Given the description of an element on the screen output the (x, y) to click on. 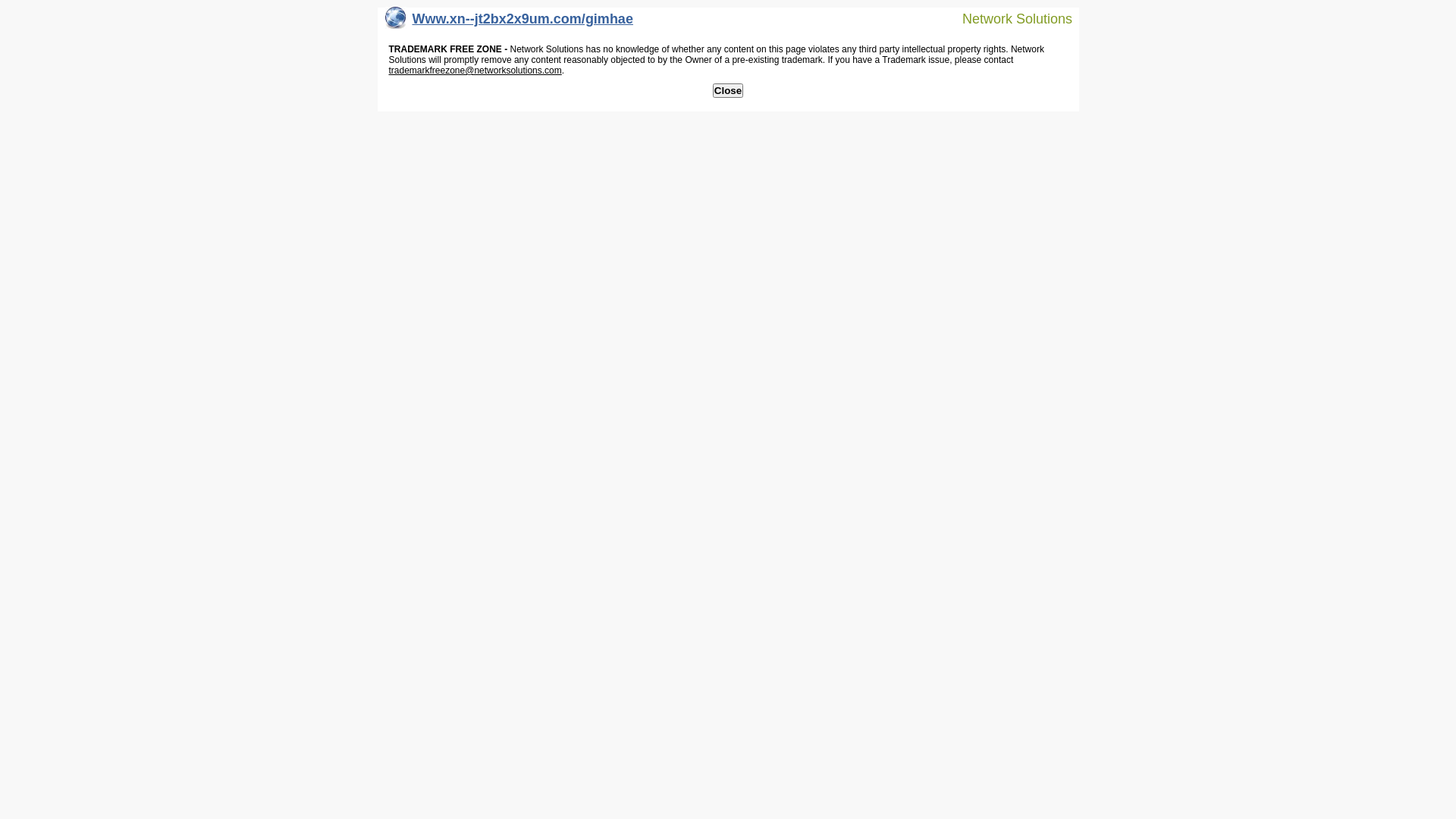
Close Element type: text (727, 90)
Network Solutions Element type: text (1007, 17)
trademarkfreezone@networksolutions.com Element type: text (474, 70)
Www.xn--jt2bx2x9um.com/gimhae Element type: text (509, 21)
